Given the description of an element on the screen output the (x, y) to click on. 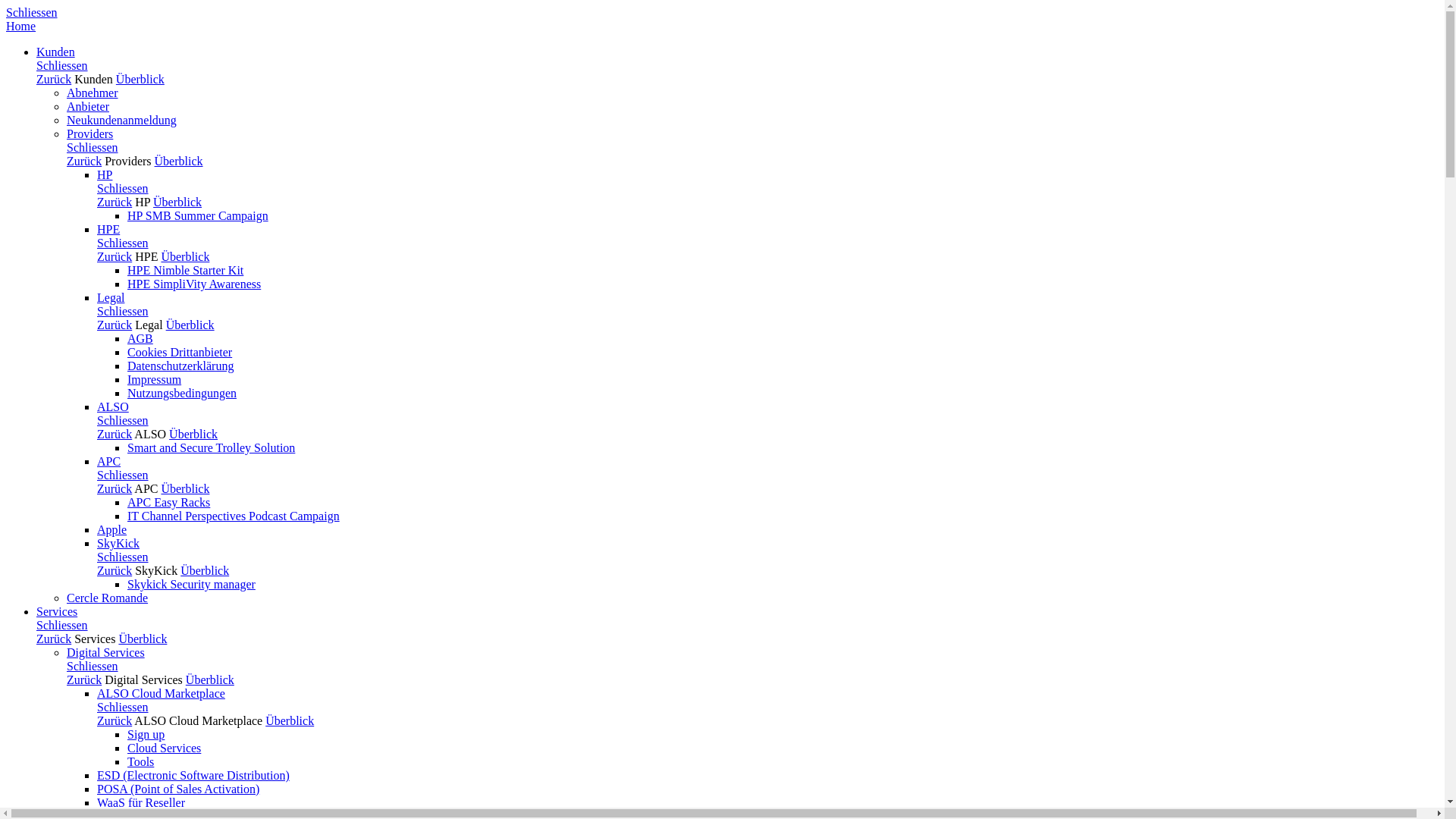
ALSO Element type: text (112, 406)
APC Element type: text (145, 488)
ALSO Cloud Marketplace Element type: text (161, 693)
Apple Element type: text (111, 529)
POSA (Point of Sales Activation) Element type: text (178, 788)
Skykick Security manager Element type: text (191, 583)
Schliessen Element type: text (122, 310)
Schliessen Element type: text (122, 474)
HP Element type: text (104, 174)
Providers Element type: text (89, 133)
APC Easy Racks Element type: text (168, 501)
Kunden Element type: text (55, 51)
Legal Element type: text (110, 297)
Schliessen Element type: text (92, 665)
Schliessen Element type: text (92, 147)
Impressum Element type: text (154, 379)
Legal Element type: text (148, 324)
Providers Element type: text (127, 160)
Schliessen Element type: text (122, 706)
Services Element type: text (94, 638)
Schliessen Element type: text (122, 242)
Schliessen Element type: text (122, 556)
Nutzungsbedingungen Element type: text (181, 392)
Services Element type: text (56, 611)
Cercle Romande Element type: text (106, 597)
Tools Element type: text (140, 761)
HPE Element type: text (145, 256)
SkyKick Element type: text (118, 542)
ESD (Electronic Software Distribution) Element type: text (193, 774)
Neukundenanmeldung Element type: text (121, 119)
HPE SimpliVity Awareness Element type: text (193, 283)
Digital Services Element type: text (143, 679)
Cloud Services Element type: text (163, 747)
HP Element type: text (142, 201)
Anbieter Element type: text (87, 106)
Schliessen Element type: text (122, 188)
HPE Element type: text (108, 228)
IT Channel Perspectives Podcast Campaign Element type: text (233, 515)
APC Element type: text (108, 461)
ALSO Element type: text (150, 433)
Cookies Drittanbieter Element type: text (179, 351)
Home Element type: text (20, 25)
SkyKick Element type: text (155, 570)
Digital Services Element type: text (105, 652)
Schliessen Element type: text (61, 65)
AGB Element type: text (140, 338)
Schliessen Element type: text (122, 420)
ALSO Cloud Marketplace Element type: text (198, 720)
Smart and Secure Trolley Solution Element type: text (210, 447)
HPE Nimble Starter Kit Element type: text (185, 269)
Schliessen Element type: text (61, 624)
Abnehmer Element type: text (92, 92)
Sign up Element type: text (145, 734)
HP SMB Summer Campaign Element type: text (197, 215)
Schliessen Element type: text (31, 12)
Kunden Element type: text (93, 78)
